Given the description of an element on the screen output the (x, y) to click on. 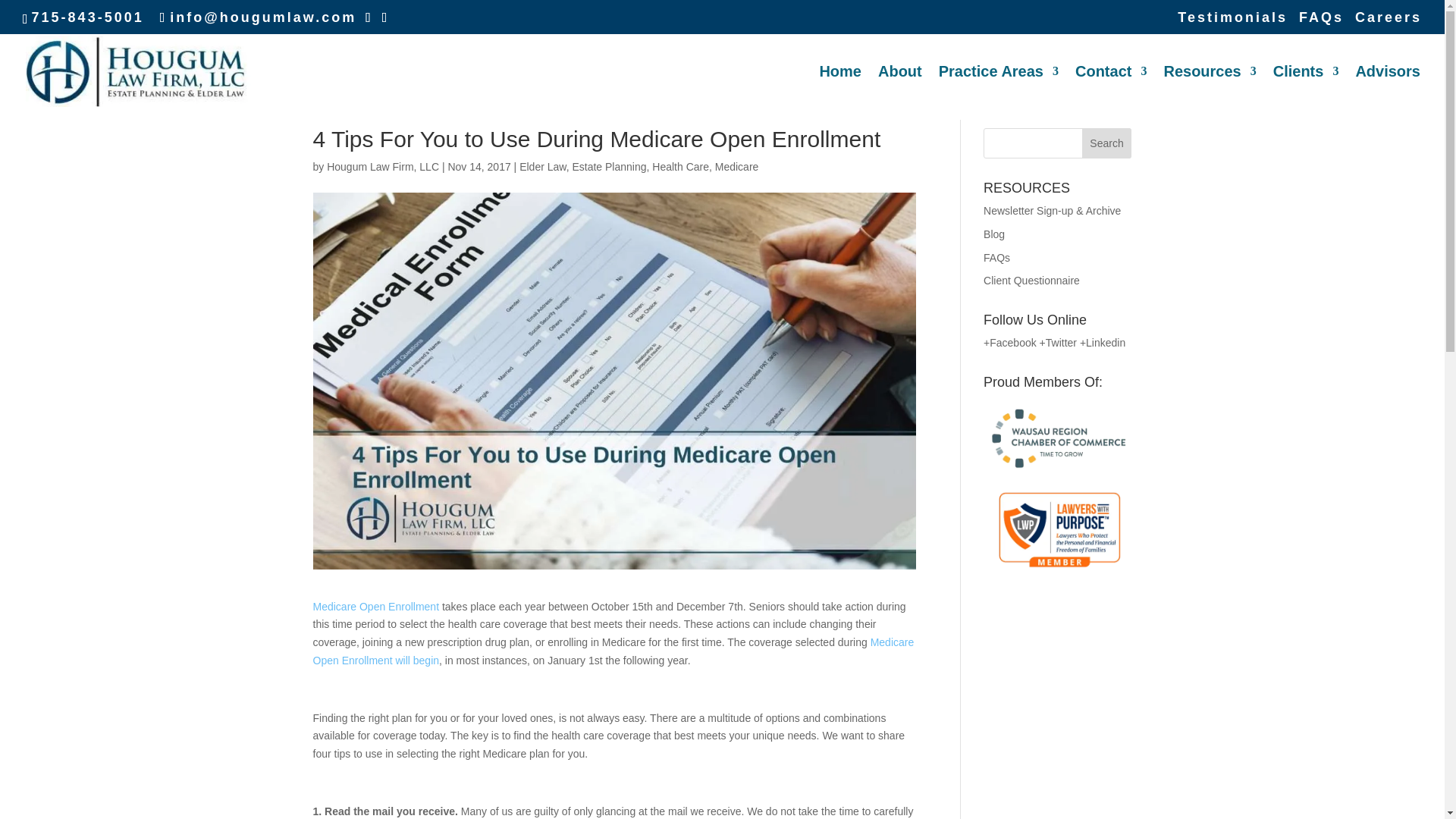
Health Care (680, 166)
Contact (1111, 92)
FAQs (1320, 22)
Search (1106, 142)
Elder Law (542, 166)
Medicare (736, 166)
Hougum Law Firm, LLC (382, 166)
Testimonials (1232, 22)
Posts by Hougum Law Firm, LLC (382, 166)
Medicare Open Enrollment will begin (613, 651)
Careers (1388, 22)
Resources (1209, 92)
Estate Planning (609, 166)
Advisors (1388, 92)
Medicare Open Enrollment (376, 606)
